Given the description of an element on the screen output the (x, y) to click on. 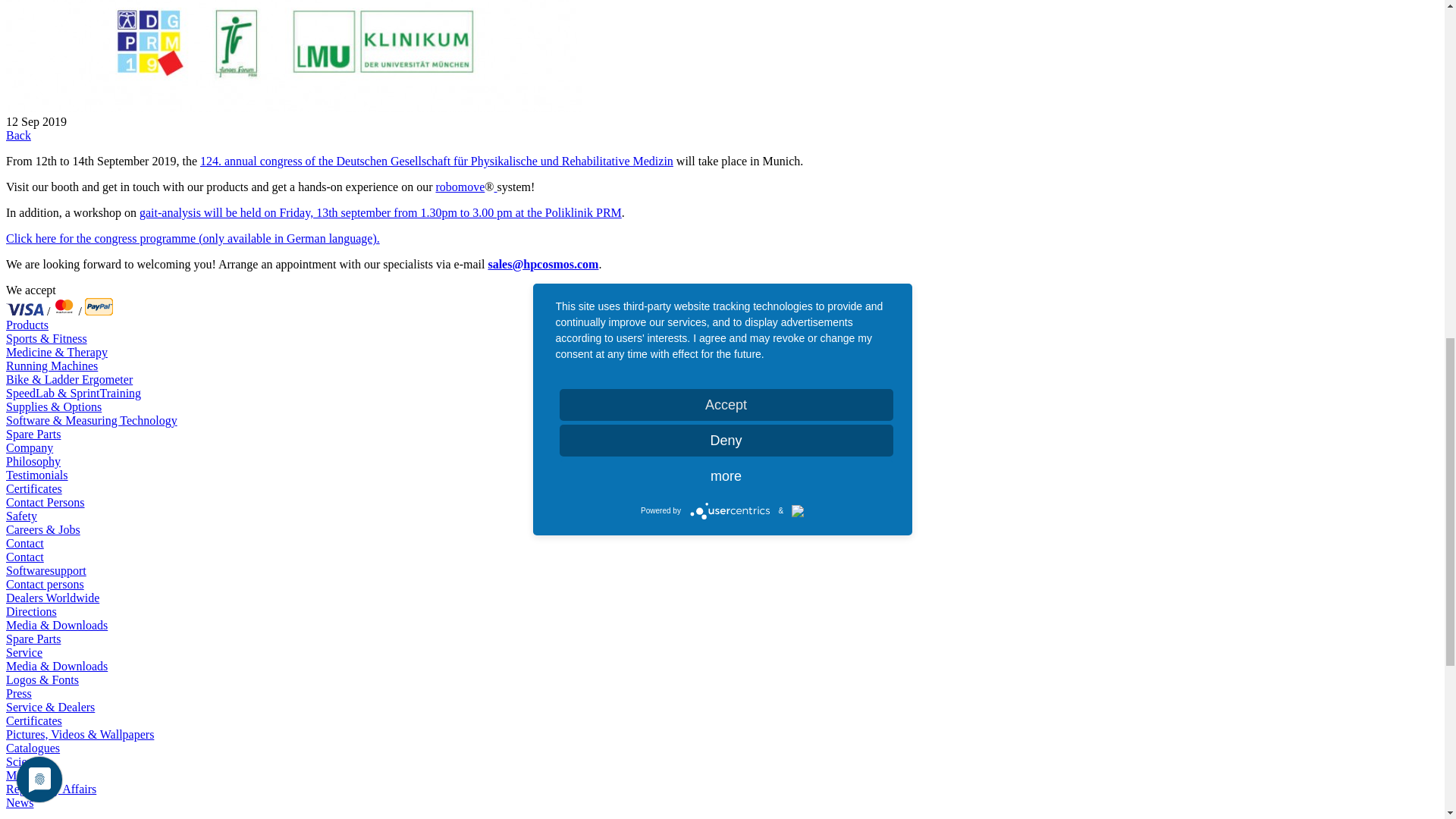
Running Machines (51, 365)
robomove (459, 186)
Testimonials (36, 474)
Safety (21, 515)
Company (28, 447)
Back (17, 134)
Certificates (33, 488)
Spare Parts (33, 433)
Contact (24, 543)
Contact Persons (44, 502)
Products (26, 324)
Philosophy (33, 461)
Back (17, 134)
